Given the description of an element on the screen output the (x, y) to click on. 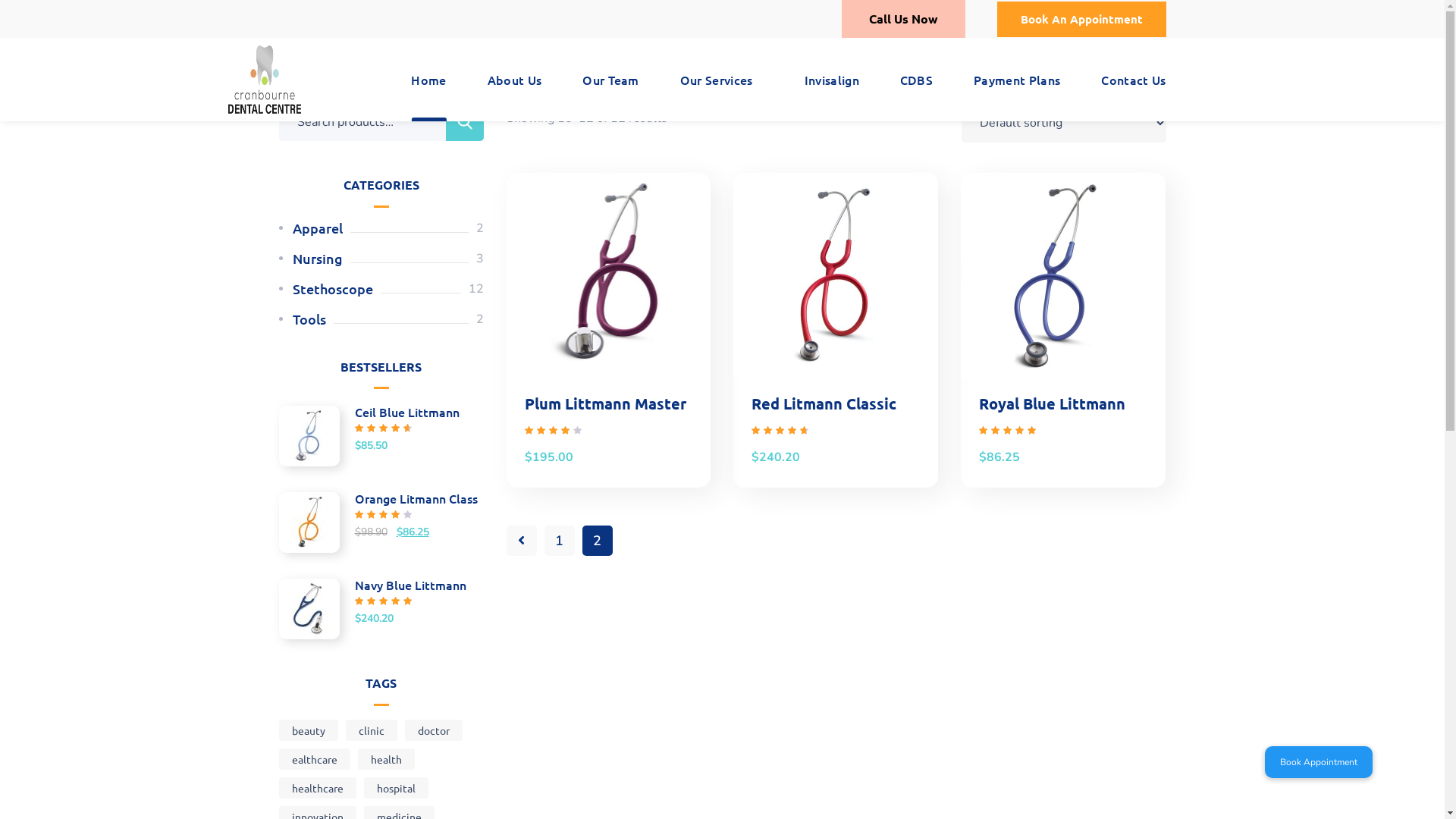
ealthcare Element type: text (314, 758)
Ceil Blue Littmann Element type: text (381, 411)
Royal Blue Littmann Element type: text (1052, 403)
Stethoscope Element type: text (332, 288)
About Us Element type: text (514, 79)
Contact Us Element type: text (1133, 79)
Search Element type: text (464, 122)
Payment Plans Element type: text (1016, 79)
Call Us Now Element type: text (903, 18)
CDBS Element type: text (916, 79)
Plum Littmann Master Element type: text (605, 403)
CALL NOW Element type: text (48, 14)
Invisalign Element type: text (831, 79)
1 Element type: text (559, 540)
Orange Litmann Class Element type: text (381, 498)
hospital Element type: text (396, 787)
Tools Element type: text (309, 319)
Red Litmann Classic Element type: text (823, 403)
health Element type: text (385, 758)
BOOK NOW Element type: text (49, 42)
Home Element type: text (428, 79)
Nursing Element type: text (317, 258)
Navy Blue Littmann Element type: text (381, 584)
Book An Appointment Element type: text (1080, 19)
doctor Element type: text (433, 729)
Our Team Element type: text (610, 79)
beauty Element type: text (308, 729)
Apparel Element type: text (317, 228)
healthcare Element type: text (317, 787)
Our Services Element type: text (721, 79)
clinic Element type: text (371, 729)
Book Appointment Element type: text (1318, 762)
